Given the description of an element on the screen output the (x, y) to click on. 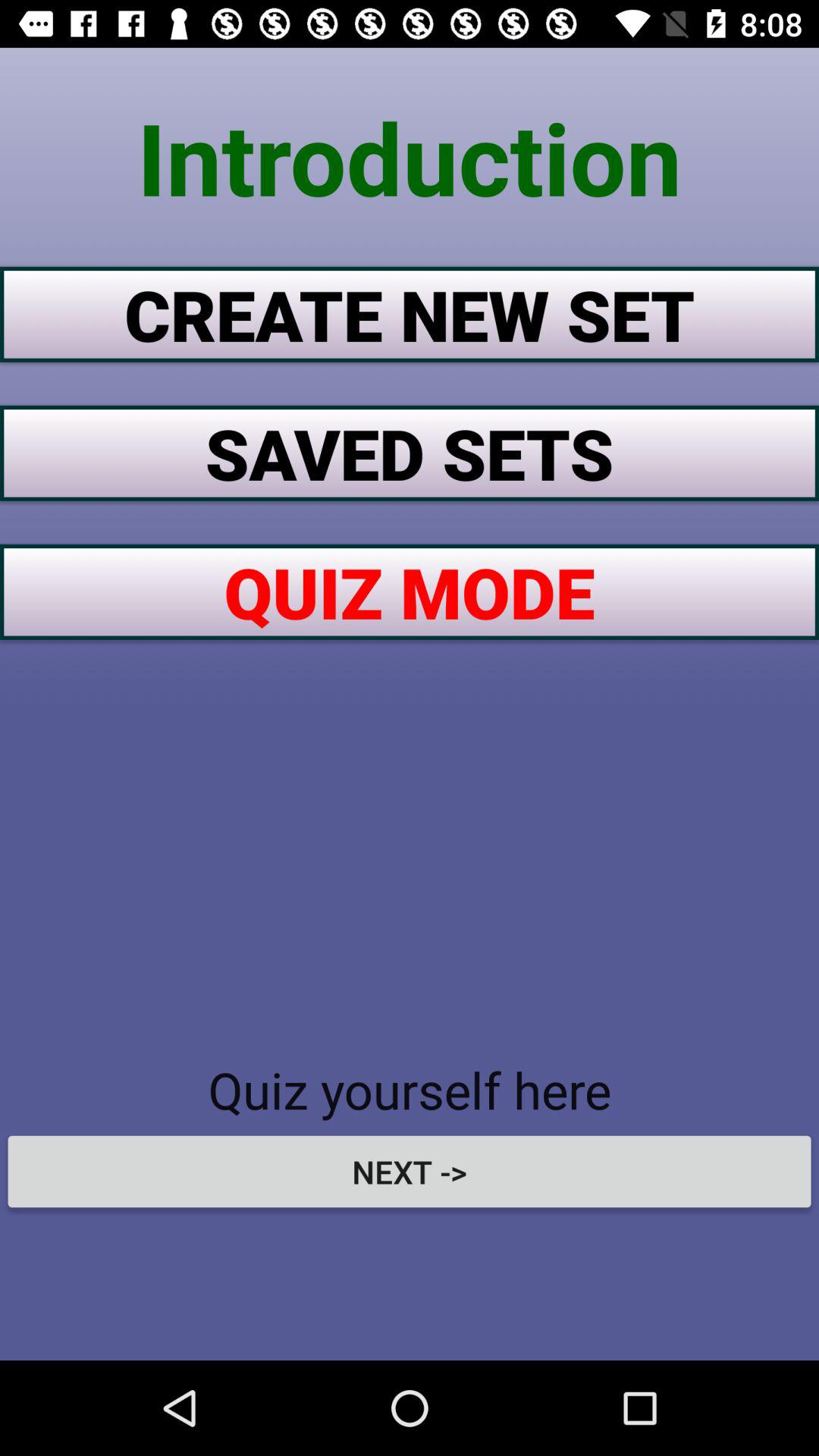
select the item below the introduction icon (409, 314)
